Given the description of an element on the screen output the (x, y) to click on. 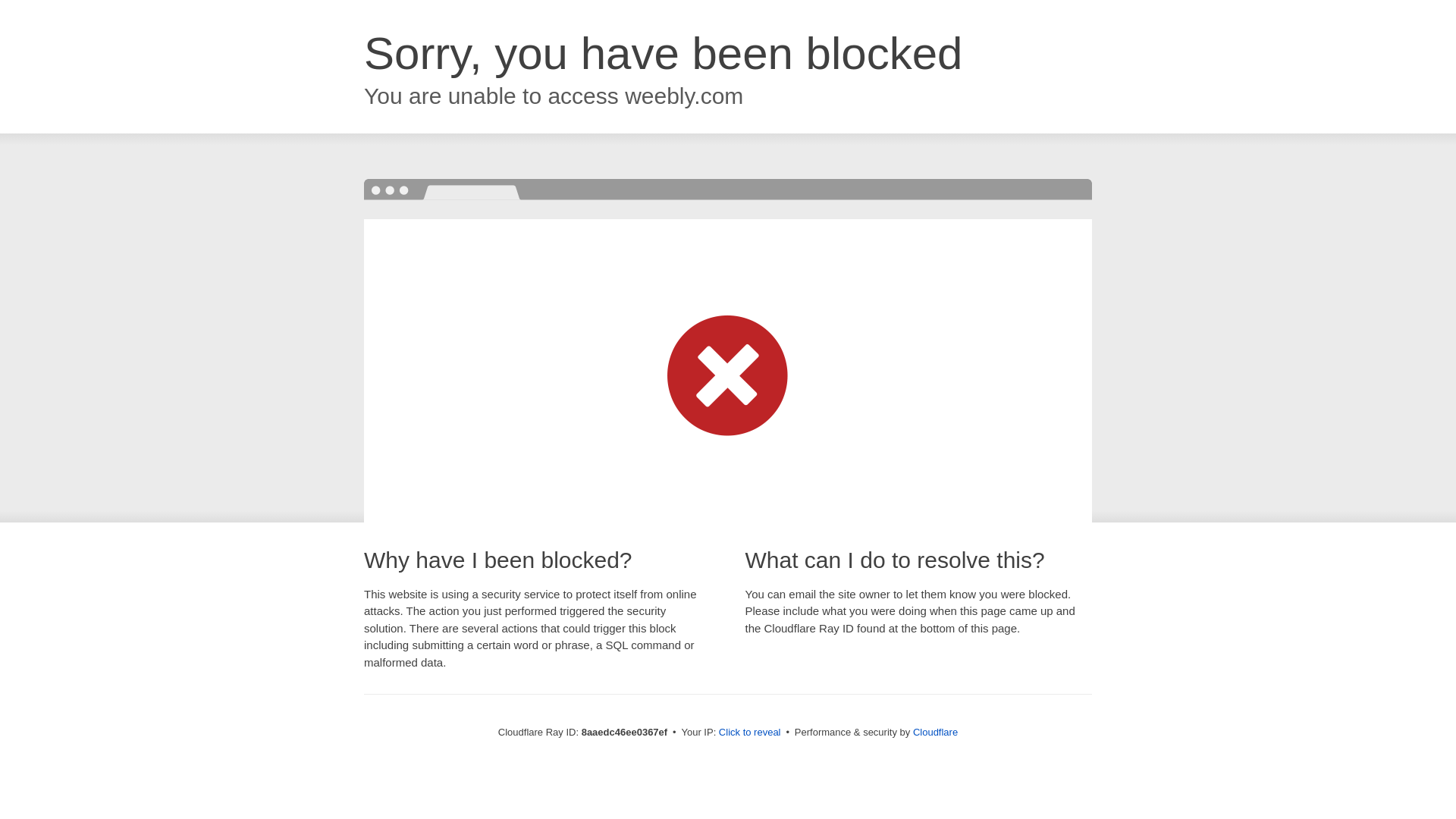
Cloudflare (935, 731)
Click to reveal (749, 732)
